Given the description of an element on the screen output the (x, y) to click on. 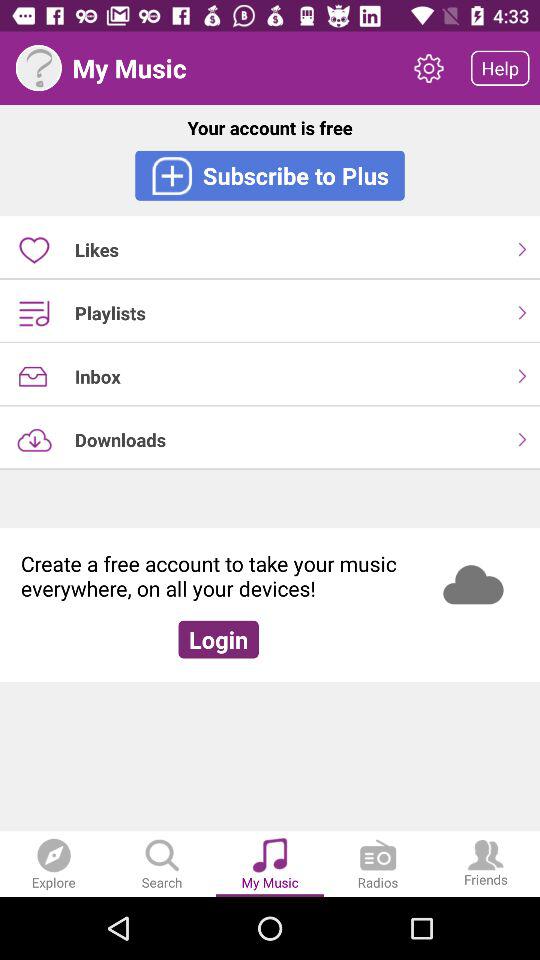
open item below create a free icon (218, 639)
